Given the description of an element on the screen output the (x, y) to click on. 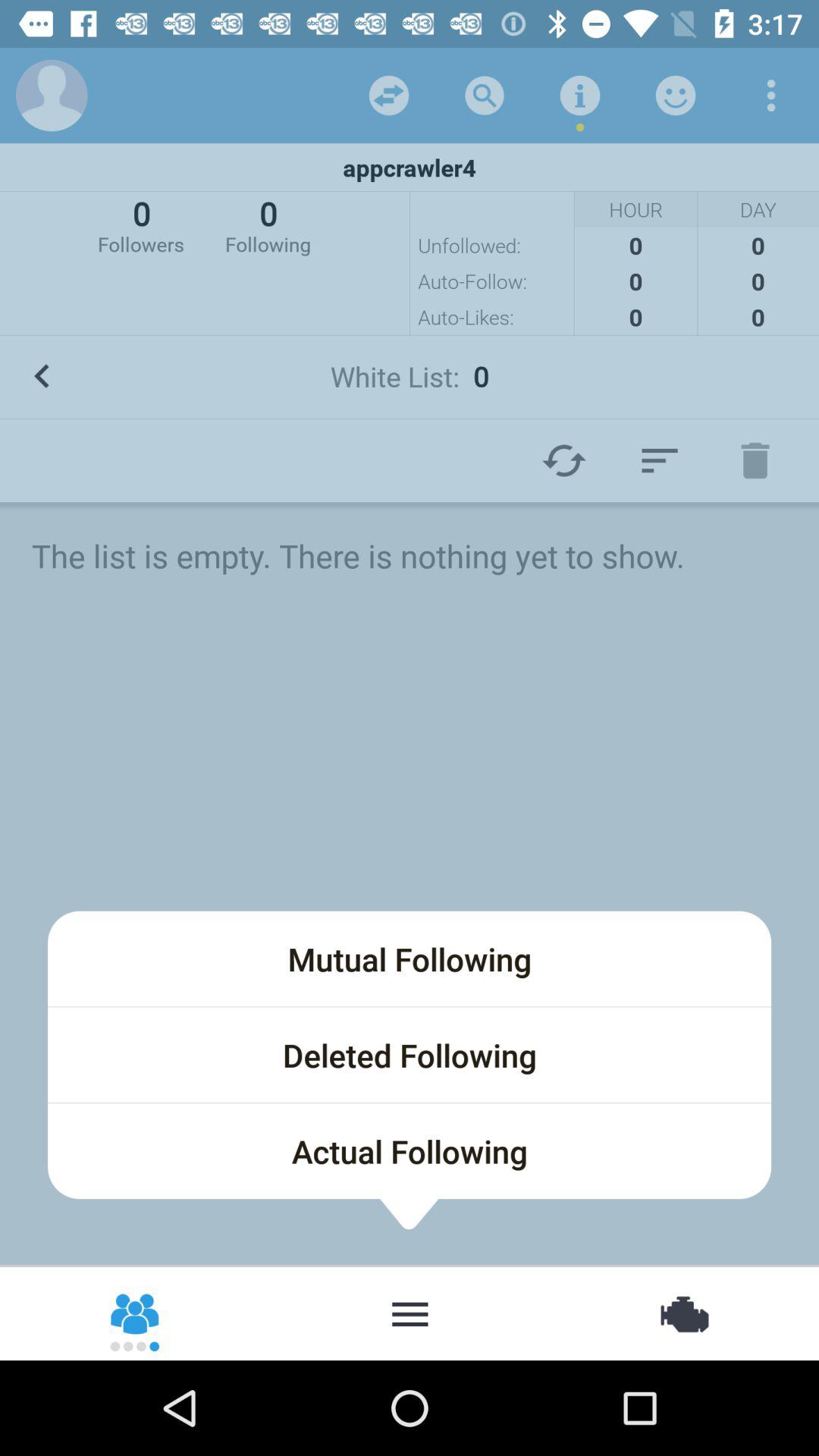
friends (136, 1312)
